Given the description of an element on the screen output the (x, y) to click on. 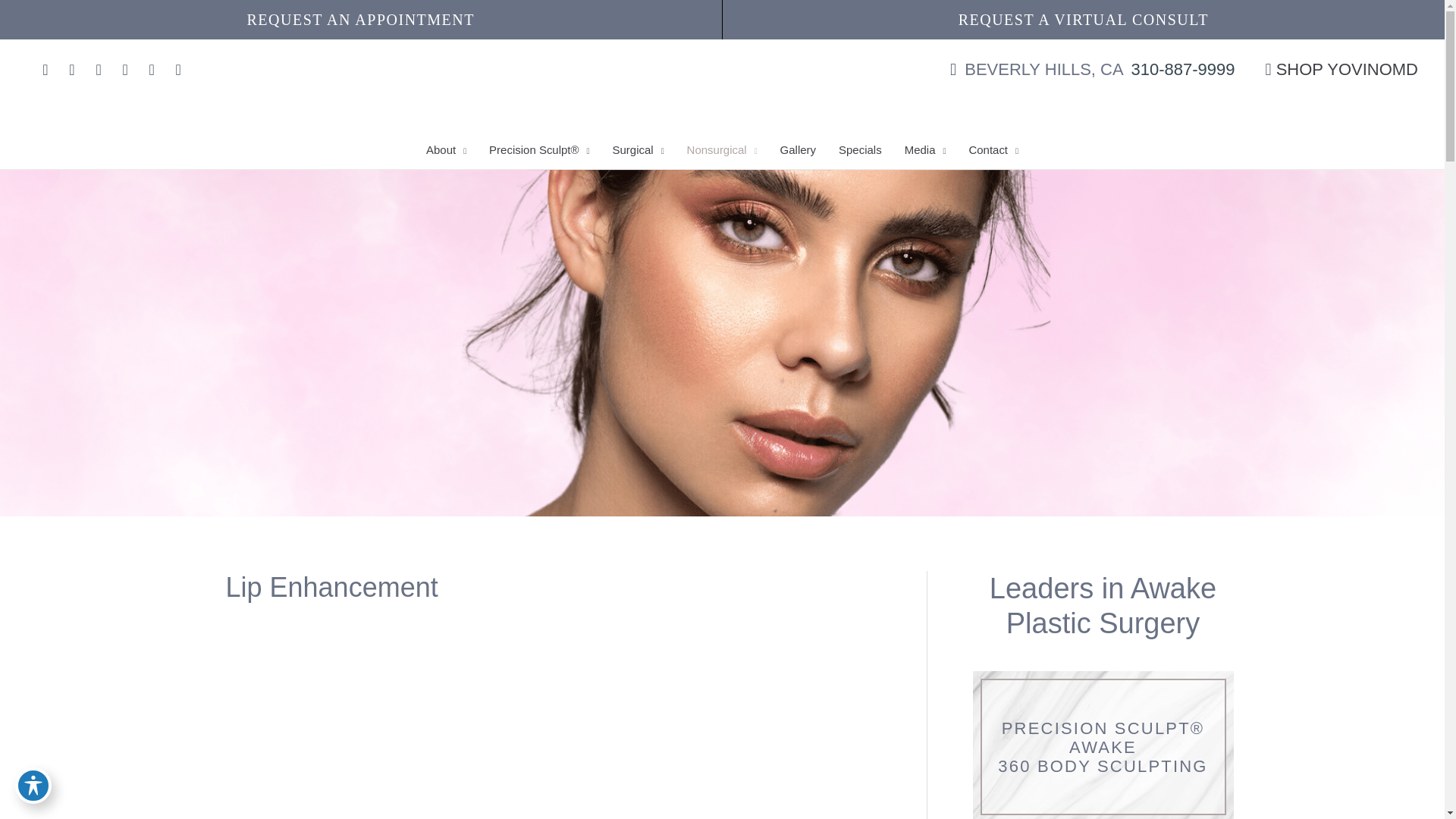
BEVERLY HILLS, CA (1037, 68)
 SHOP YOVINOMD (1341, 68)
Surgical (638, 149)
310-887-9999 (1182, 68)
REQUEST AN APPOINTMENT (361, 19)
About (445, 149)
